Given the description of an element on the screen output the (x, y) to click on. 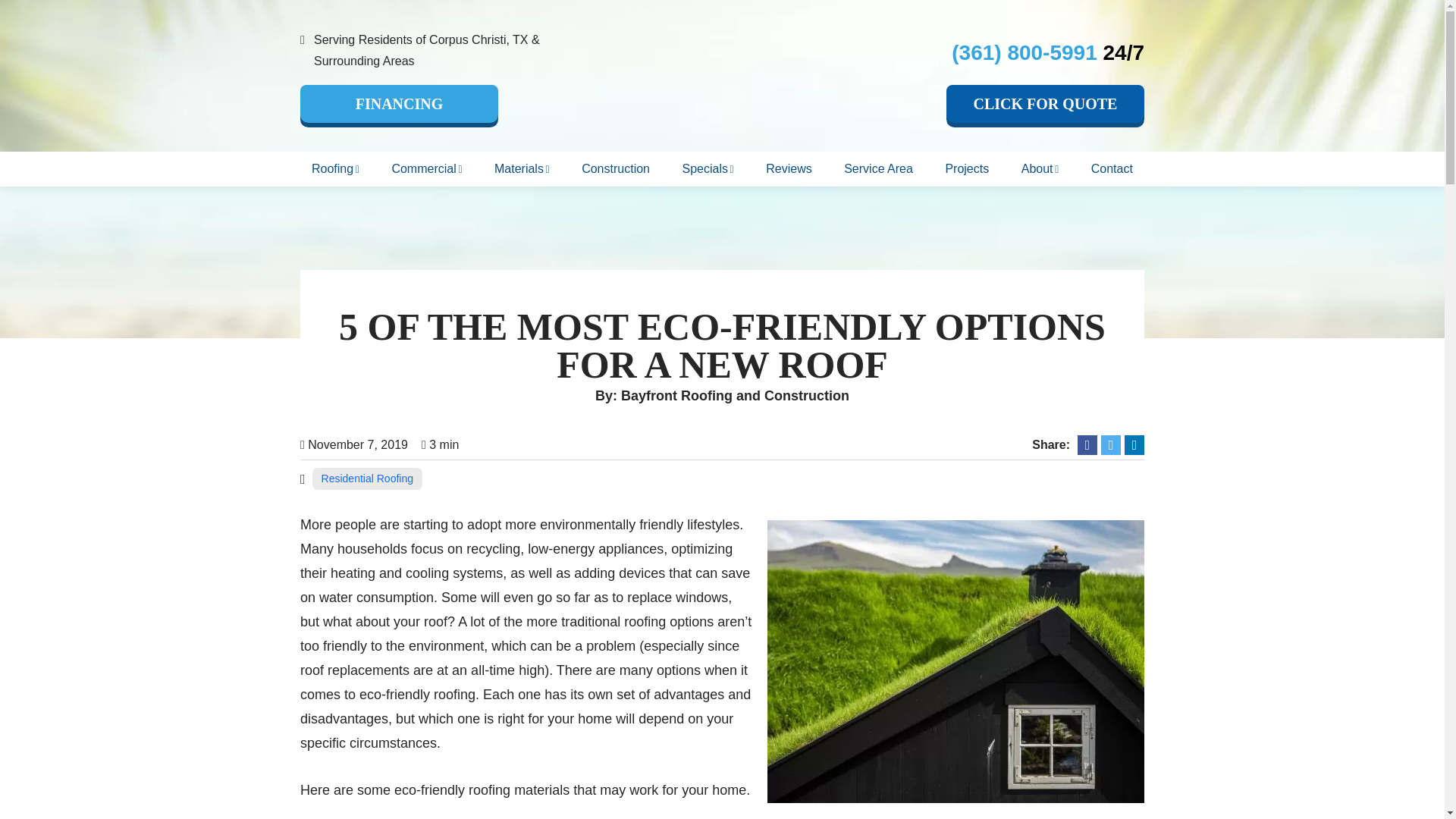
Commercial (426, 168)
CLICK FOR QUOTE (1045, 103)
FINANCING (398, 103)
Bayfront Roofing and Construction (721, 76)
Roofing (335, 168)
5 of the Most Eco-Friendly Options for a New Roof (955, 661)
